Given the description of an element on the screen output the (x, y) to click on. 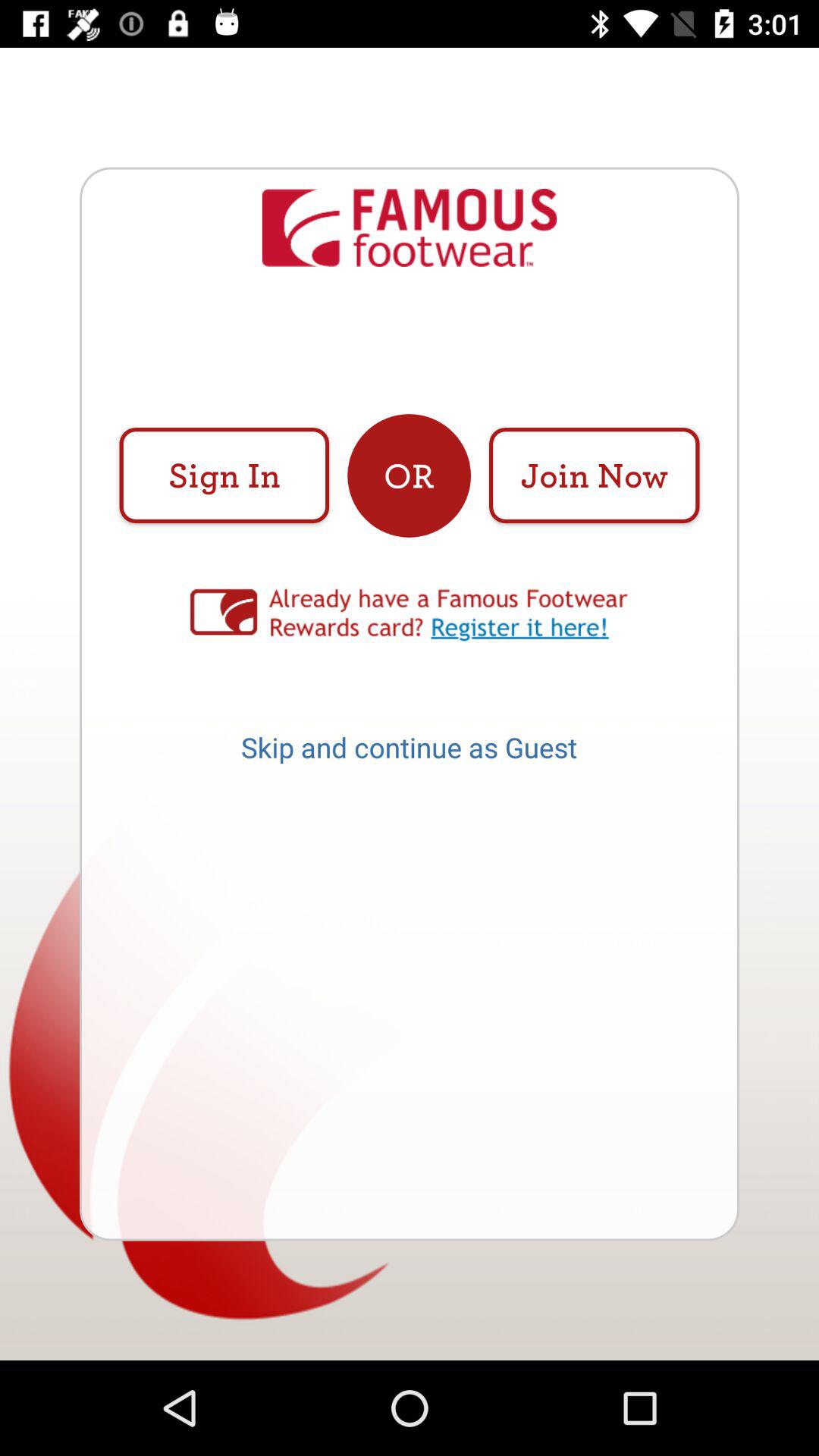
tap icon next to or item (594, 475)
